Given the description of an element on the screen output the (x, y) to click on. 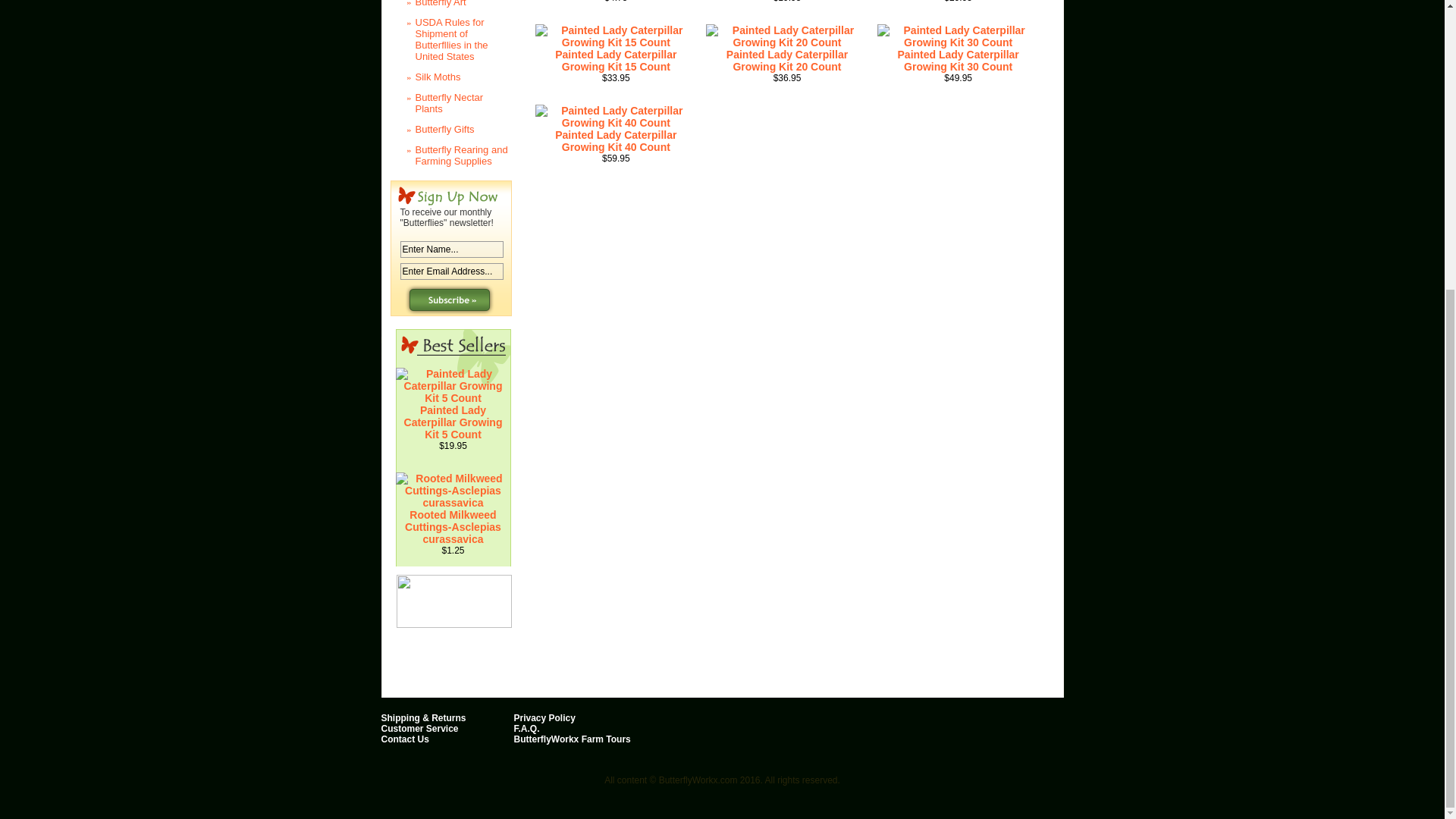
Painted Lady Caterpillar Growing Kit 15 Count (616, 36)
Butterfly Rearing and Farming Supplies (446, 155)
Painted Lady Caterpillar Growing Kit 20 Count (786, 60)
Sign Up (449, 299)
Enter Email Address... (451, 271)
Butterfly Gifts (446, 129)
Butterfly Art (446, 6)
Painted Lady Caterpillar Growing Kit 20 Count (786, 36)
Painted Lady Caterpillar Growing Kit 30 Count (958, 60)
USDA Rules for Shipment of Butterfllies in the United States (446, 39)
